Given the description of an element on the screen output the (x, y) to click on. 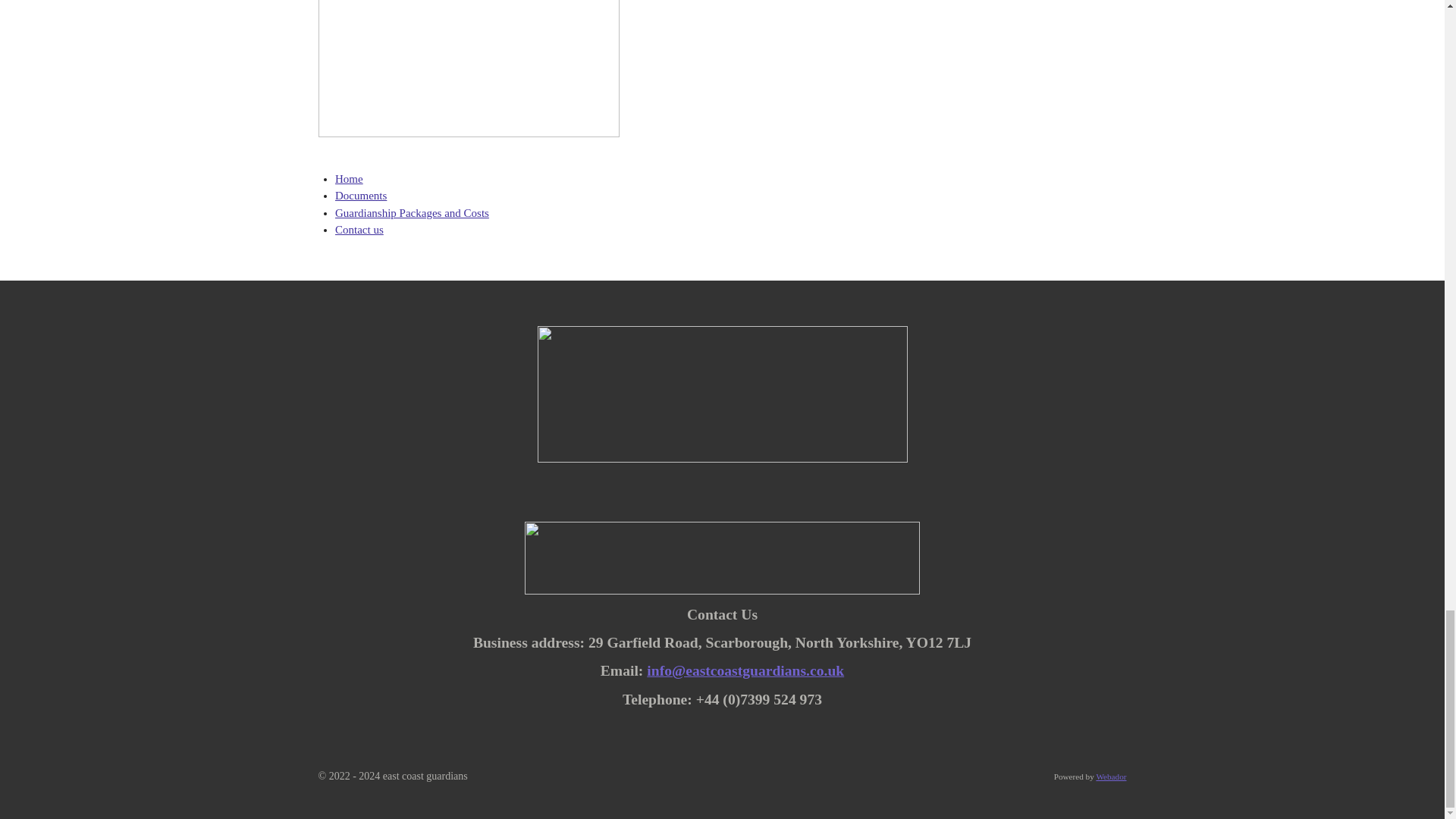
Documents (360, 195)
Contact us (359, 229)
Home (348, 178)
Guardianship Packages and Costs (411, 213)
Webador (1110, 776)
